Given the description of an element on the screen output the (x, y) to click on. 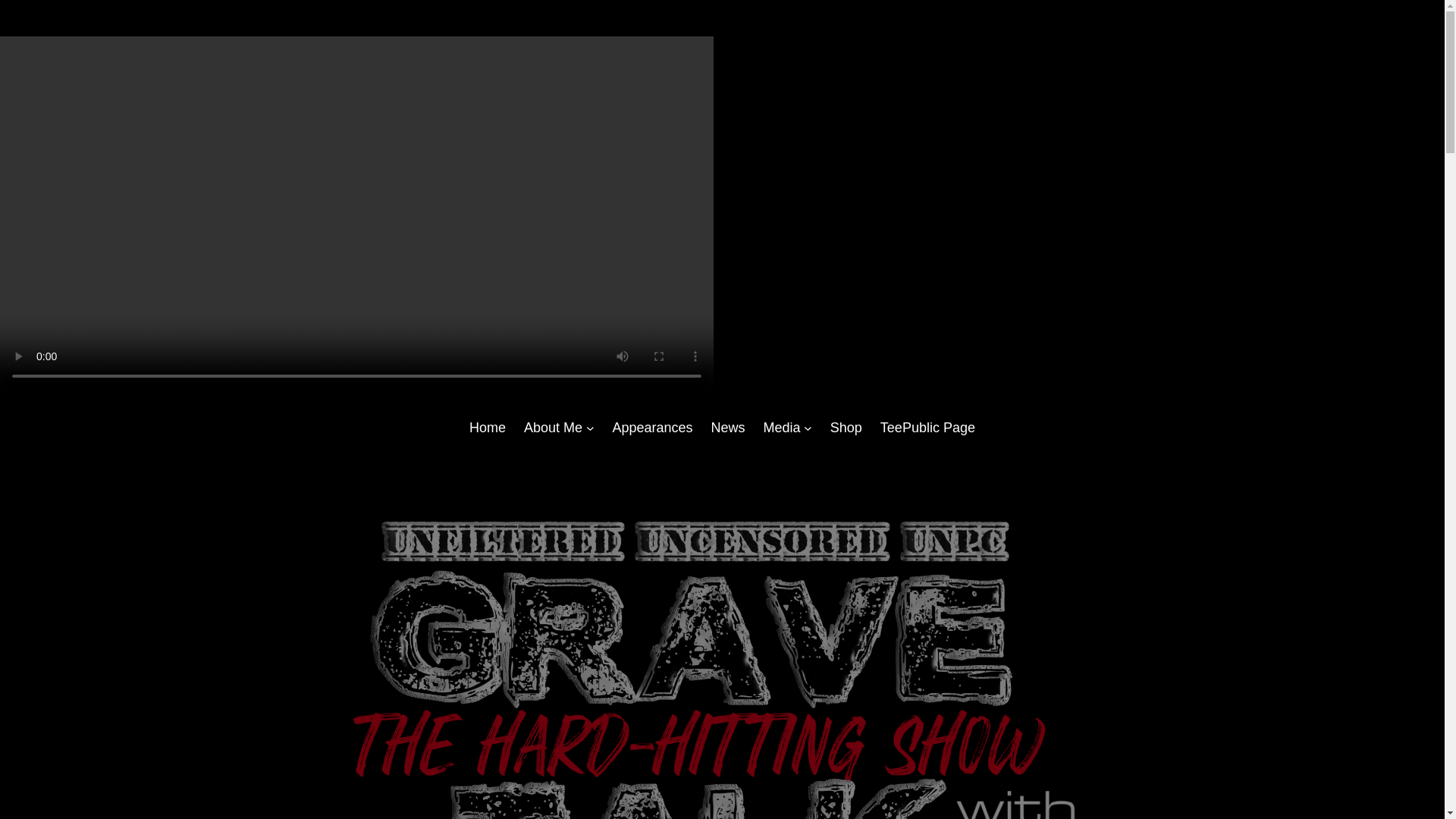
Home (486, 427)
Shop (845, 427)
About Me (553, 427)
News (727, 427)
Media (780, 427)
Appearances (652, 427)
TeePublic Page (927, 427)
